Given the description of an element on the screen output the (x, y) to click on. 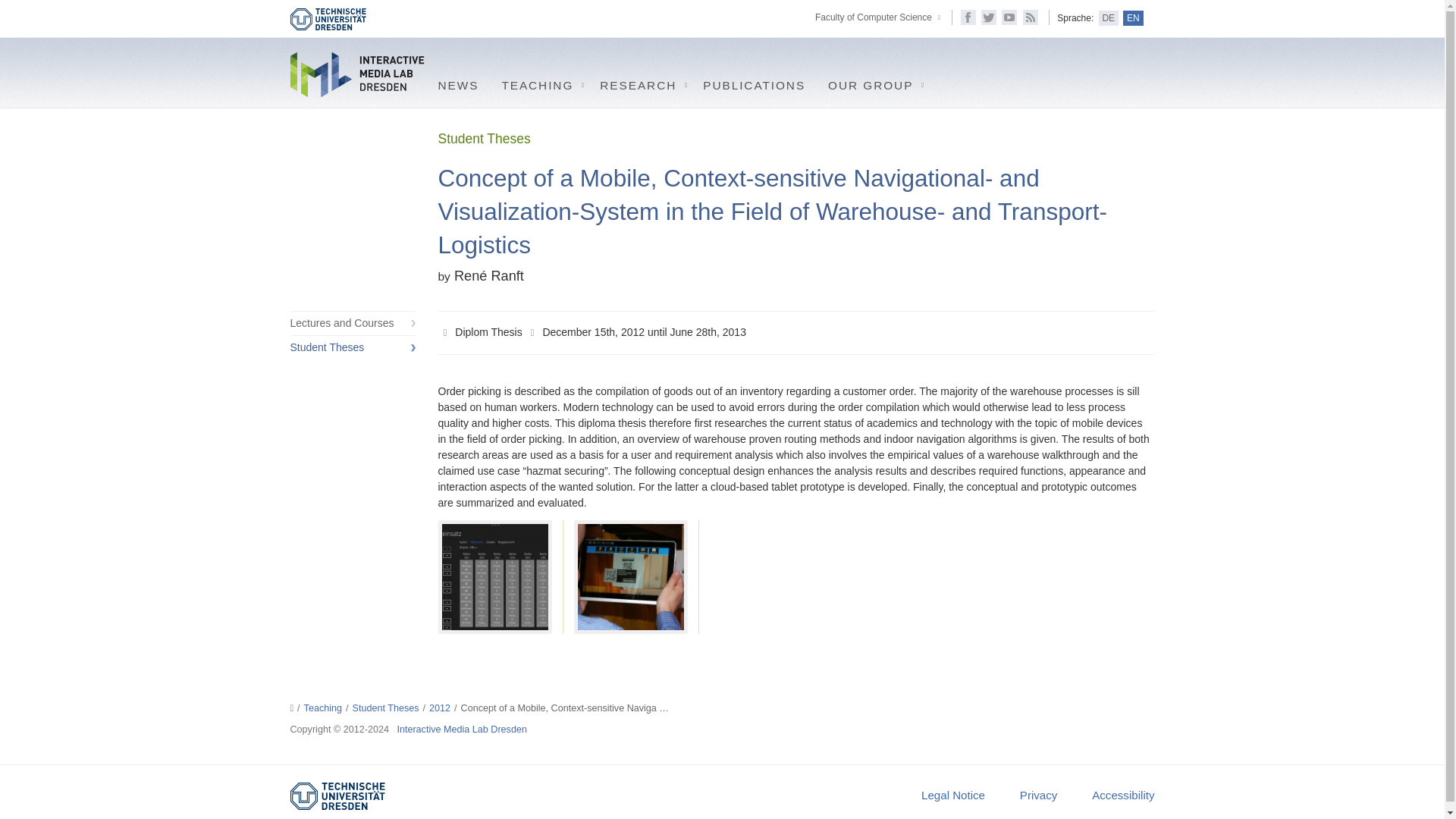
Interactive Media Lab Dresden (357, 73)
EN (1132, 17)
Facebook (967, 17)
Twitter (988, 17)
PUBLICATIONS (753, 82)
RSS Feeds (1030, 17)
Student Theses (351, 347)
NEWS (457, 82)
RESEARCH (639, 82)
Faculty of Computer Science (873, 17)
Lectures and Courses (351, 323)
TEACHING (538, 82)
Youtube (1008, 17)
OUR GROUP (872, 82)
DE (1108, 17)
